Given the description of an element on the screen output the (x, y) to click on. 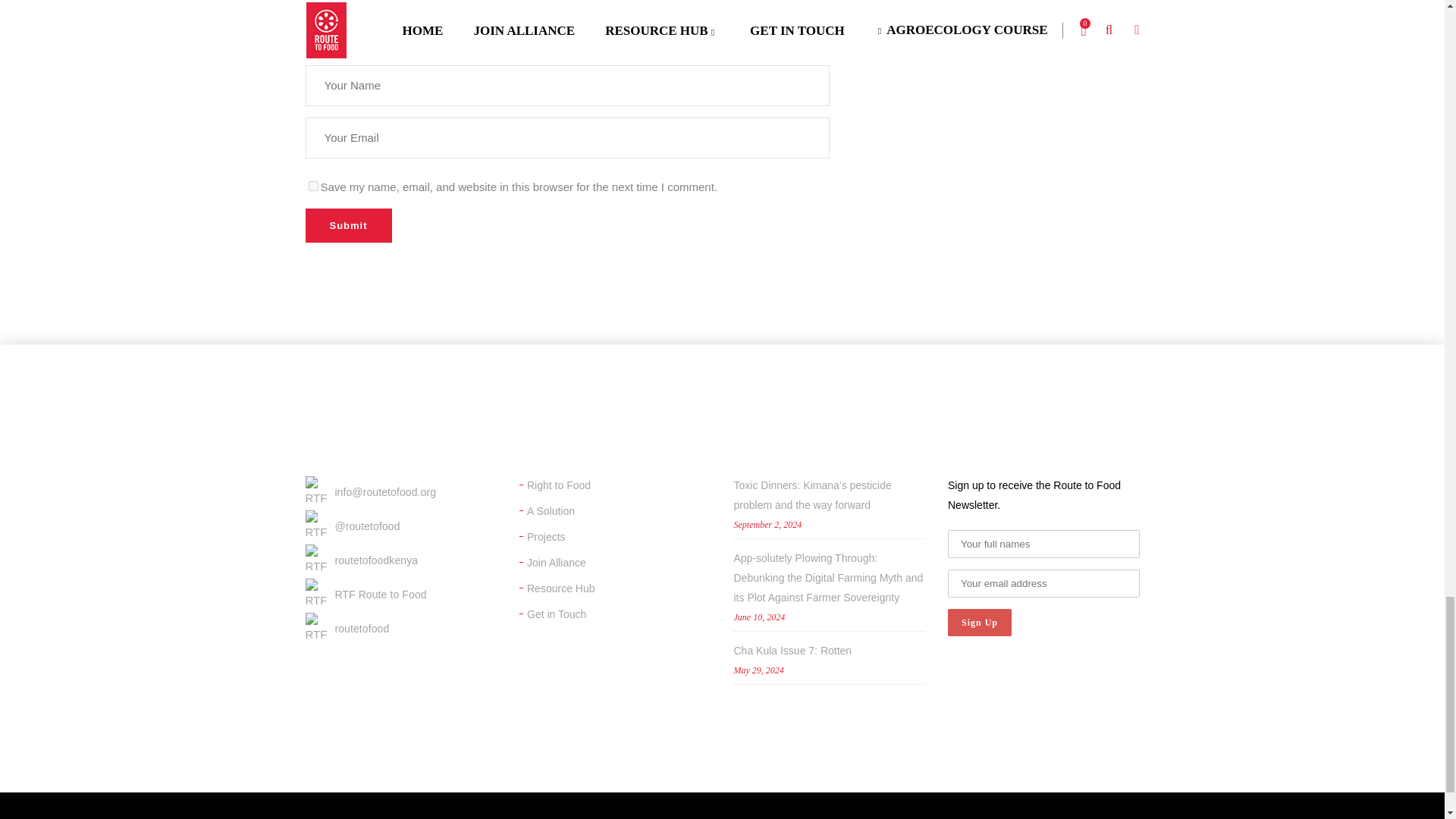
Sign Up (979, 622)
yes (312, 185)
Submit (347, 225)
